Given the description of an element on the screen output the (x, y) to click on. 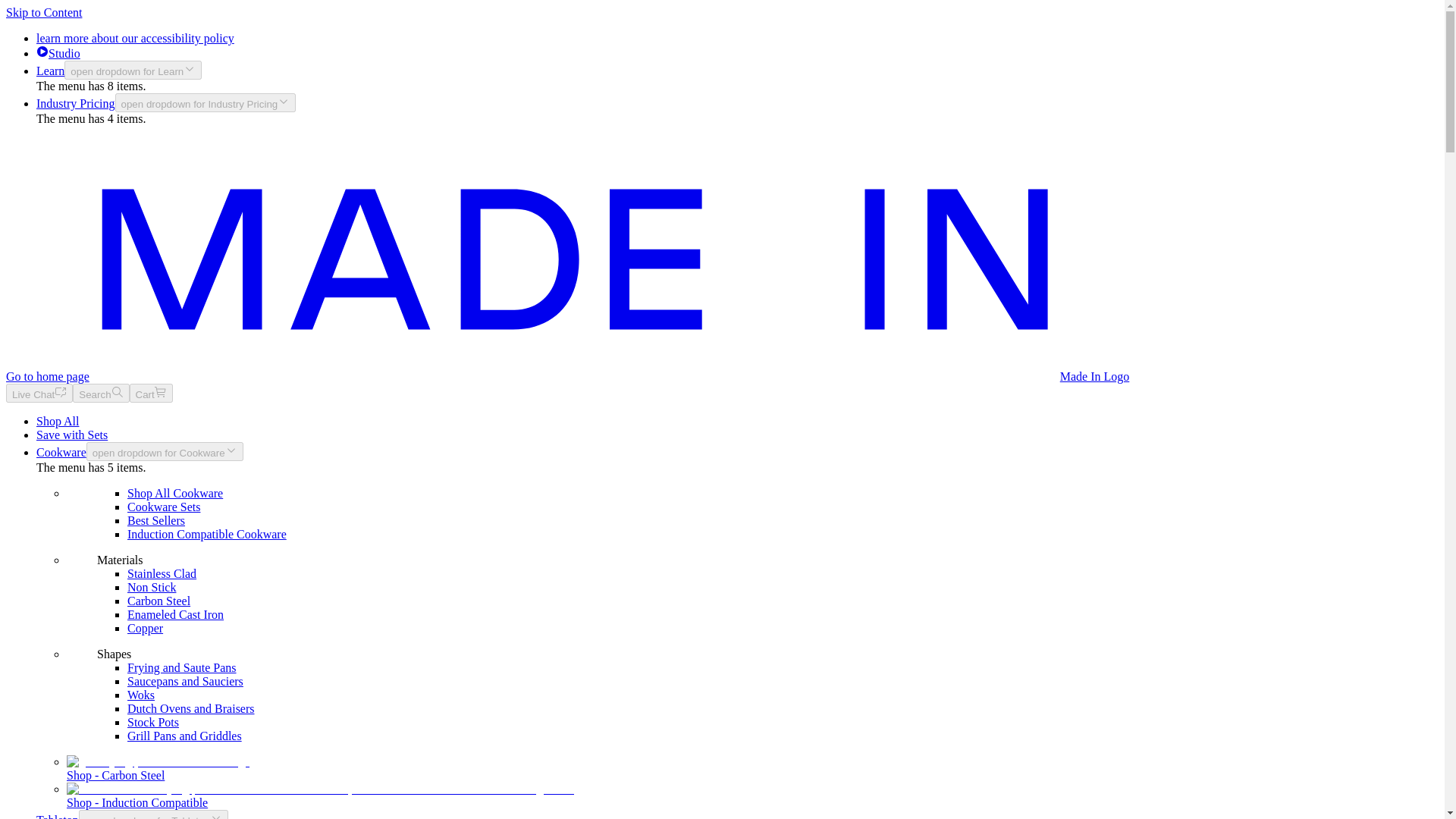
Studio (58, 52)
open dropdown for Learn (133, 69)
Live Chat (38, 393)
Shop All Cookware (175, 492)
Skip to Content (43, 11)
Saucepans and Sauciers (185, 680)
Best Sellers (156, 520)
Cookware (60, 451)
open dropdown for Industry Pricing (206, 102)
open dropdown for Tabletop (153, 814)
Enameled Cast Iron (176, 614)
Stainless Clad (162, 573)
Cart (151, 393)
Live Chat (38, 393)
Search (100, 393)
